Given the description of an element on the screen output the (x, y) to click on. 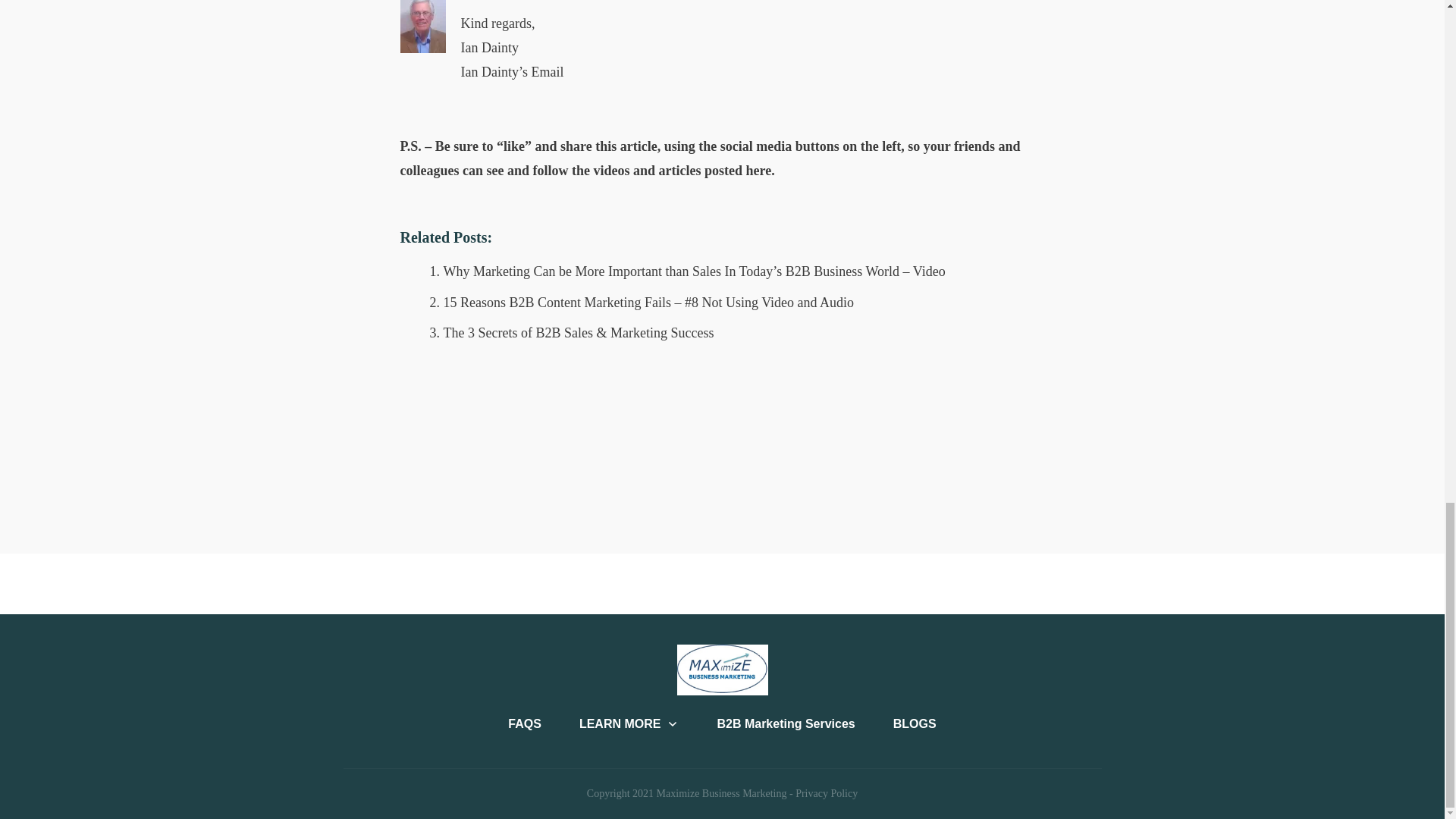
Privacy Policy (825, 793)
B2B Marketing Services (785, 723)
BLOGS (914, 723)
LEARN MORE (629, 723)
FAQS (524, 723)
